Given the description of an element on the screen output the (x, y) to click on. 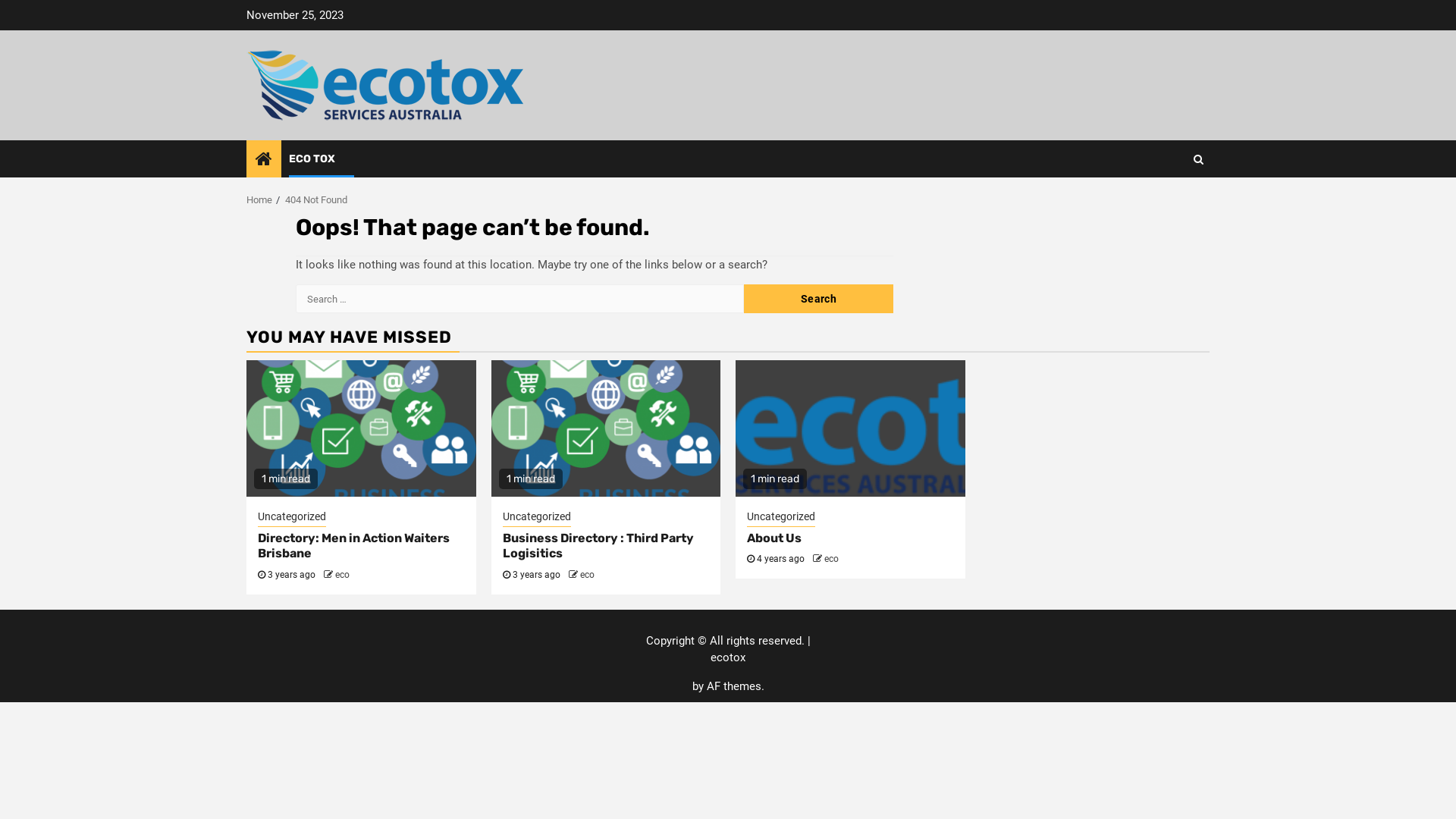
Uncategorized Element type: text (291, 517)
Business Directory : Third Party Logisitics Element type: text (597, 545)
eco Element type: text (831, 558)
404 Not Found Element type: text (316, 199)
Uncategorized Element type: text (536, 517)
eco Element type: text (342, 574)
Home Element type: text (259, 199)
Search Element type: text (1169, 204)
About Us Element type: text (773, 537)
Uncategorized Element type: text (780, 517)
Search Element type: text (818, 298)
Directory: Men in Action Waiters Brisbane Element type: text (353, 545)
ECO TOX Element type: text (311, 158)
Search Element type: hover (1198, 158)
ecotox Element type: text (727, 657)
eco Element type: text (586, 574)
